Given the description of an element on the screen output the (x, y) to click on. 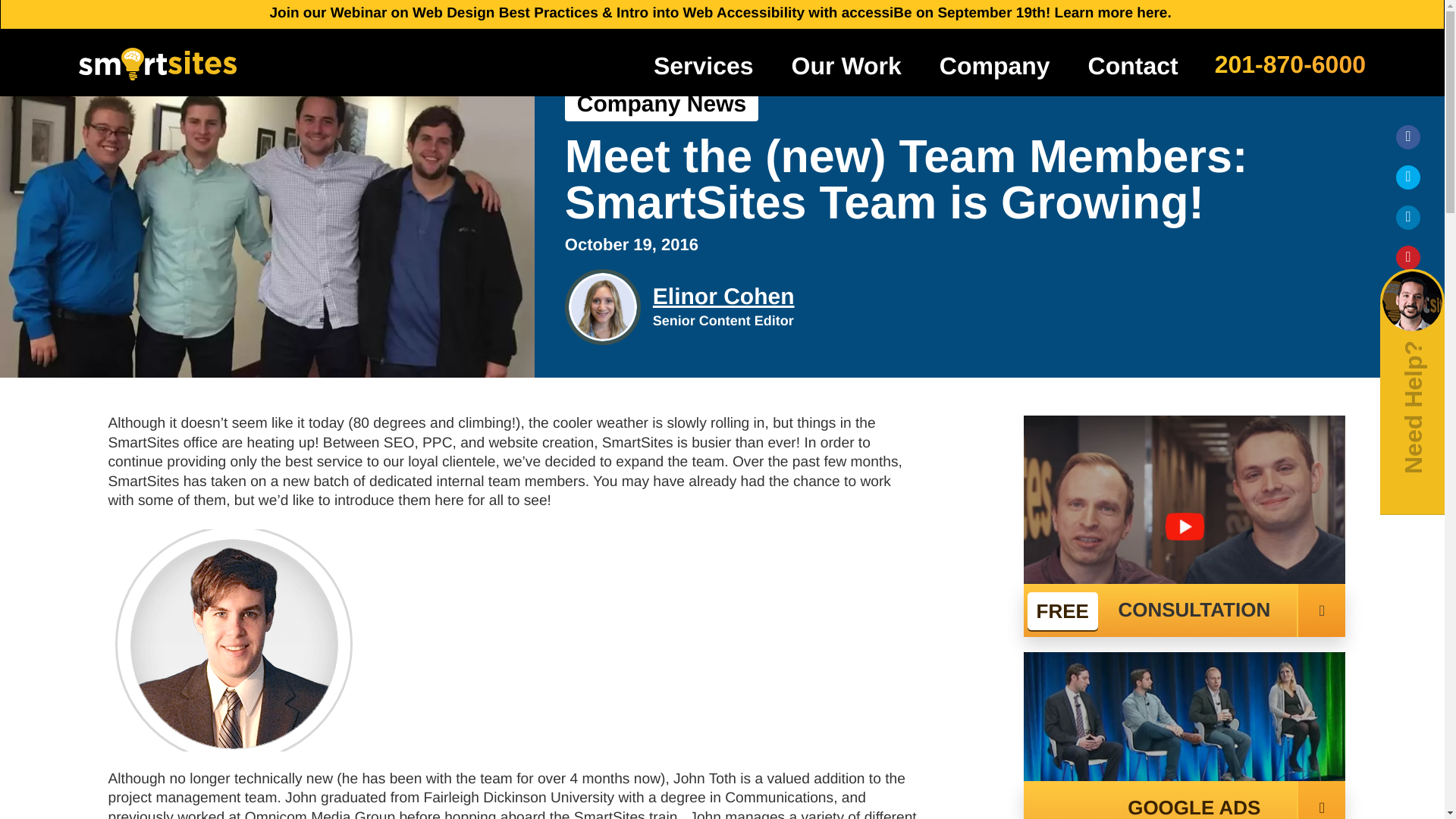
Services (703, 65)
Company News (660, 104)
201-870-6000 (1289, 62)
CONSULTATION (1184, 610)
GOOGLE ADS AUDIT (1184, 800)
Contact (1133, 65)
Company (995, 65)
Our Work (846, 65)
Elinor Cohen (723, 295)
